Given the description of an element on the screen output the (x, y) to click on. 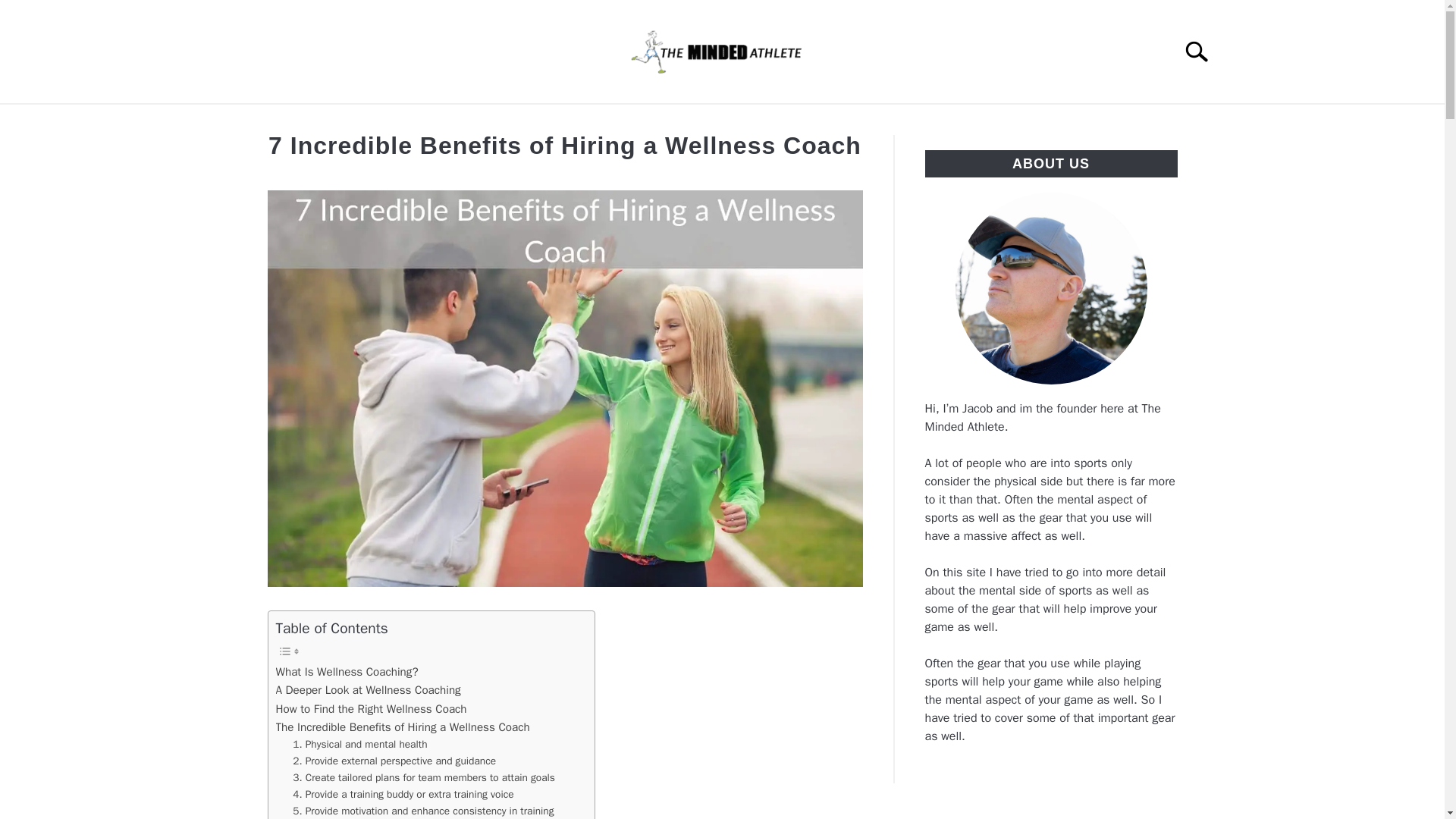
REVIEWS (587, 121)
4. Provide a training buddy or extra training voice (402, 794)
The Incredible Benefits of Hiring a Wellness Coach (402, 727)
4. Provide a training buddy or extra training voice (402, 794)
A Deeper Look at Wellness Coaching (368, 689)
1. Physical and mental health (359, 744)
A Deeper Look at Wellness Coaching (368, 689)
SUPPLEMENTS (828, 121)
MENTAL GAME (477, 121)
What Is Wellness Coaching? (347, 671)
The Incredible Benefits of Hiring a Wellness Coach (402, 727)
Search (1203, 51)
3. Create tailored plans for team members to attain goals (423, 777)
5. Provide motivation and enhance consistency in training (422, 811)
2. Provide external perspective and guidance (394, 760)
